Given the description of an element on the screen output the (x, y) to click on. 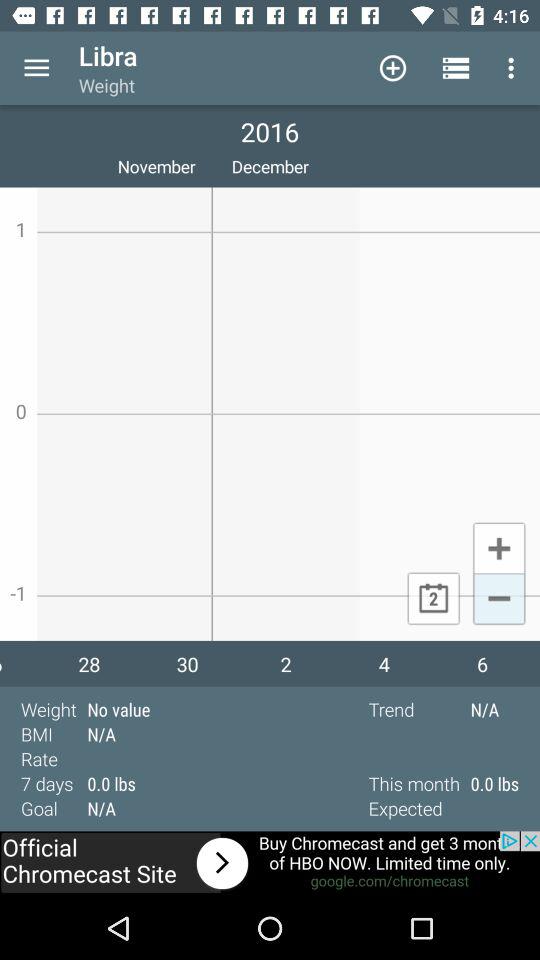
remove item (498, 599)
